Given the description of an element on the screen output the (x, y) to click on. 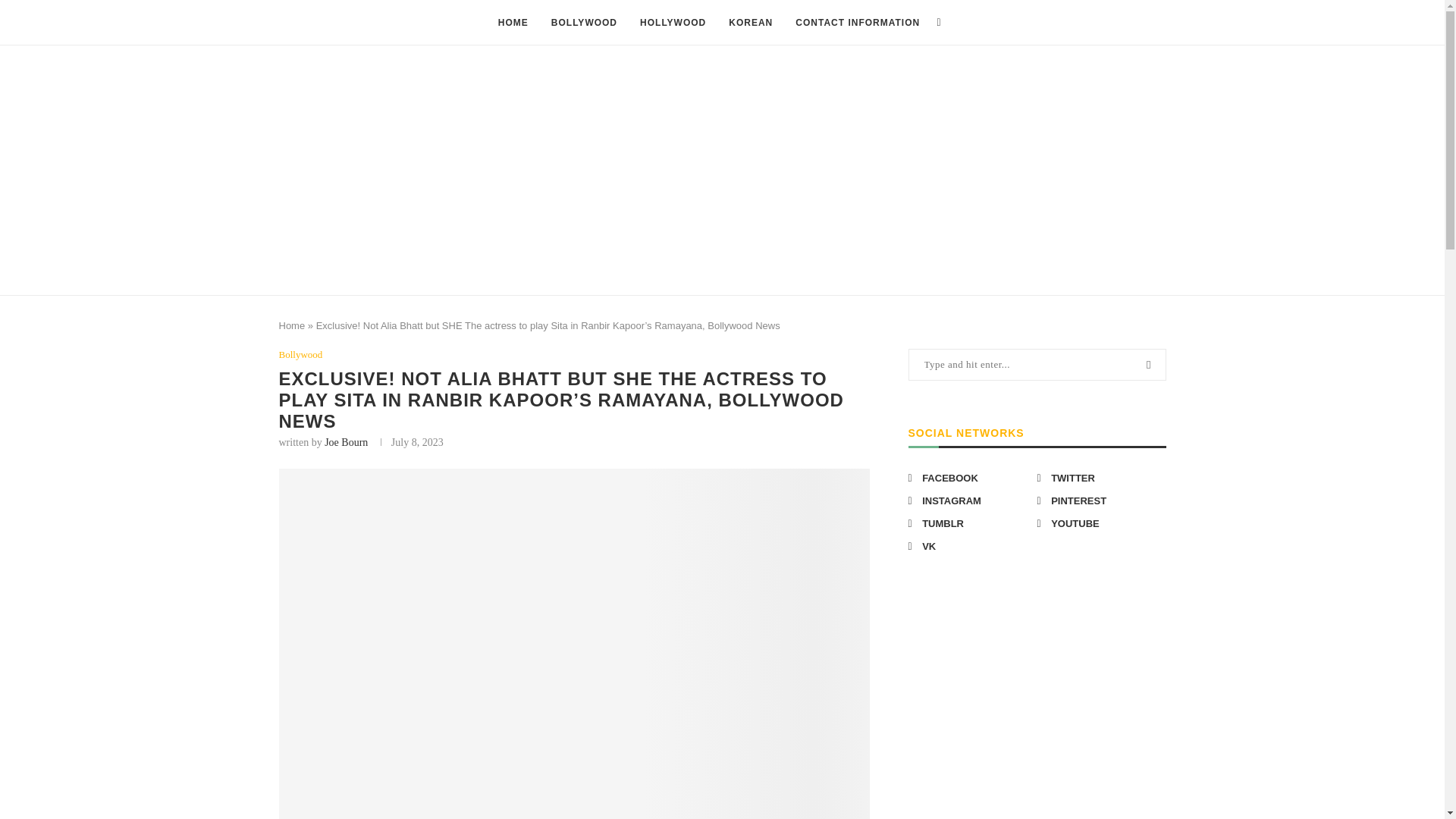
Home (292, 325)
CONTACT INFORMATION (857, 22)
Joe Bourn (346, 441)
HOLLYWOOD (673, 22)
BOLLYWOOD (584, 22)
Bollywood (301, 354)
KOREAN (751, 22)
